Given the description of an element on the screen output the (x, y) to click on. 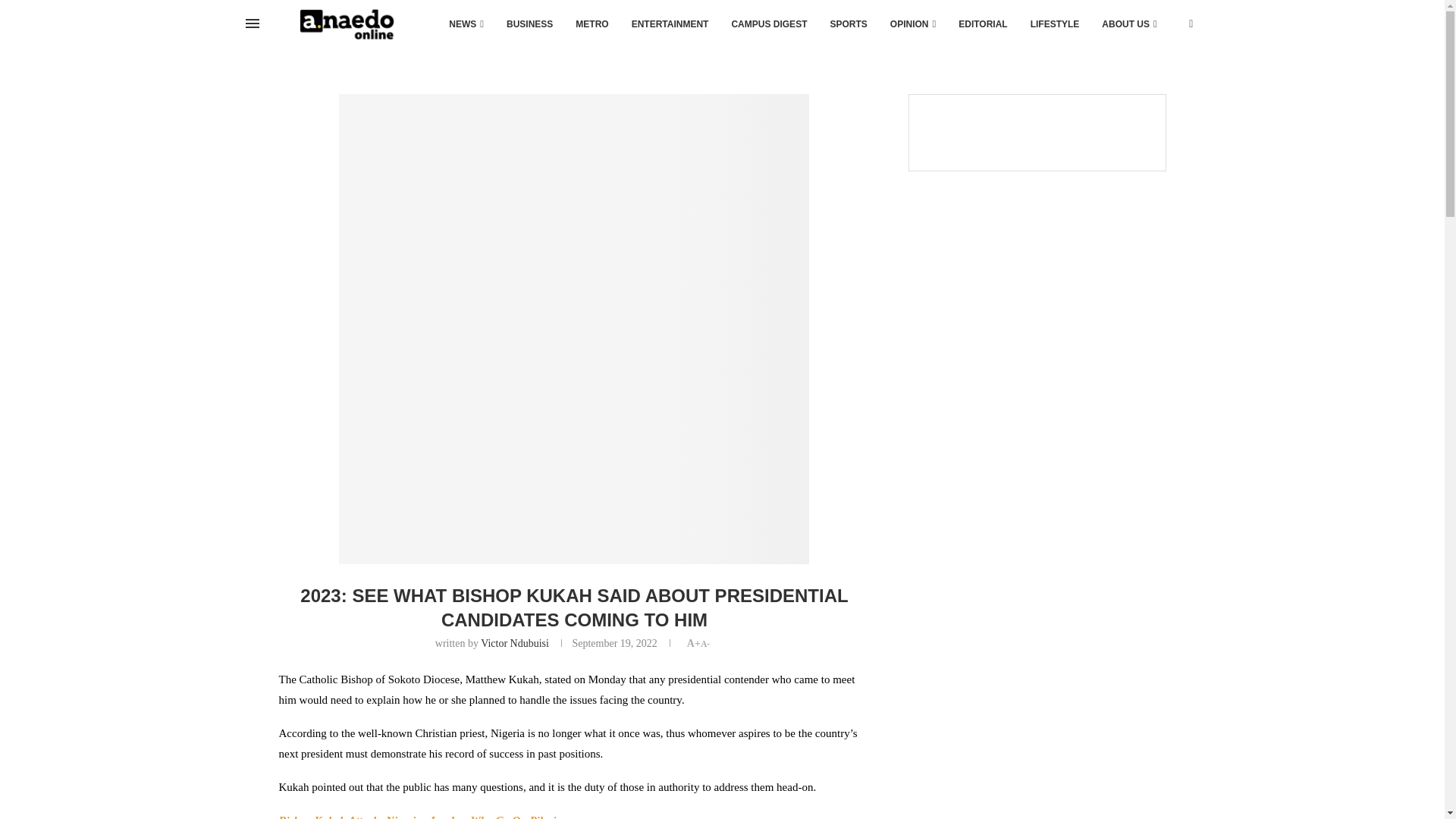
NEWS (466, 23)
CAMPUS DIGEST (768, 23)
BUSINESS (529, 23)
ABOUT US (1128, 23)
EDITORIAL (982, 23)
METRO (592, 23)
ENTERTAINMENT (670, 23)
LIFESTYLE (1054, 23)
OPINION (913, 23)
SPORTS (847, 23)
